Given the description of an element on the screen output the (x, y) to click on. 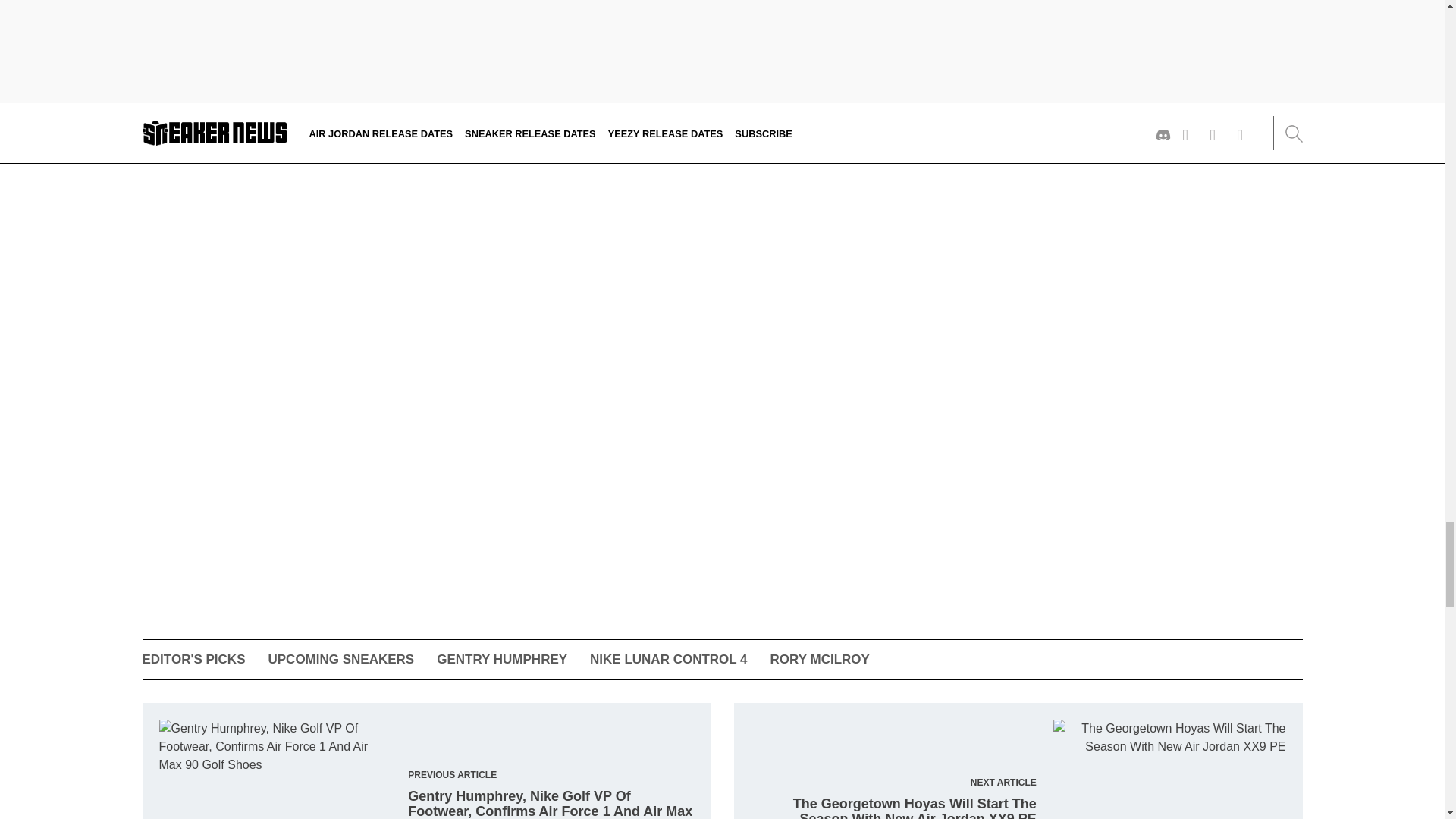
NIKE LUNAR CONTROL 4 (667, 658)
RORY MCILROY (819, 658)
GENTRY HUMPHREY (501, 658)
EDITOR'S PICKS (194, 658)
UPCOMING SNEAKERS (340, 658)
